Given the description of an element on the screen output the (x, y) to click on. 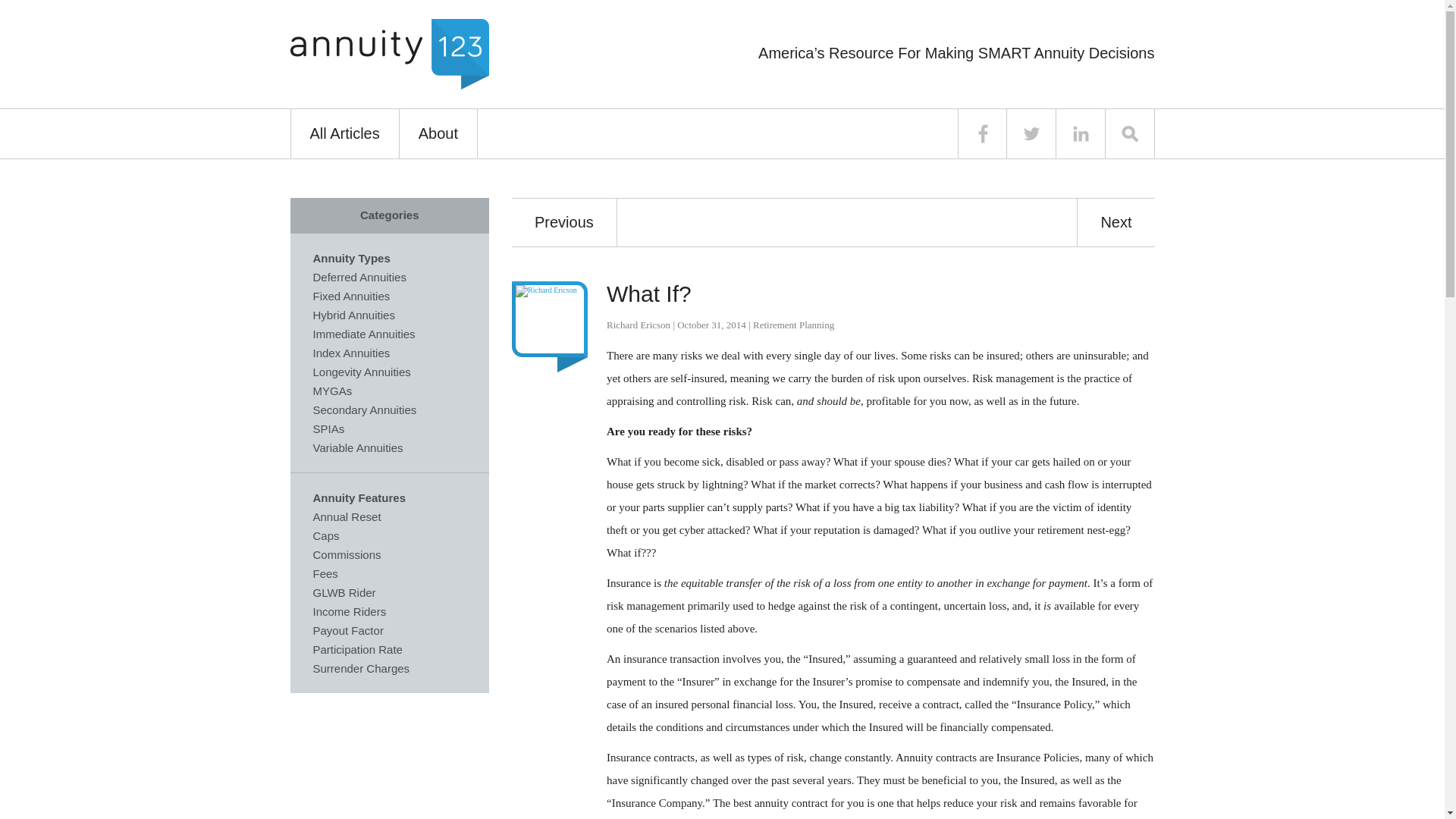
Deferred Annuities (359, 276)
Payout Factor (347, 629)
About (437, 133)
All Articles (343, 133)
What If? (649, 293)
Income Riders (349, 611)
Annuity 123 (388, 53)
Secondary Annuities (364, 409)
Immediate Annuities (363, 333)
Annual Reset (346, 515)
